Given the description of an element on the screen output the (x, y) to click on. 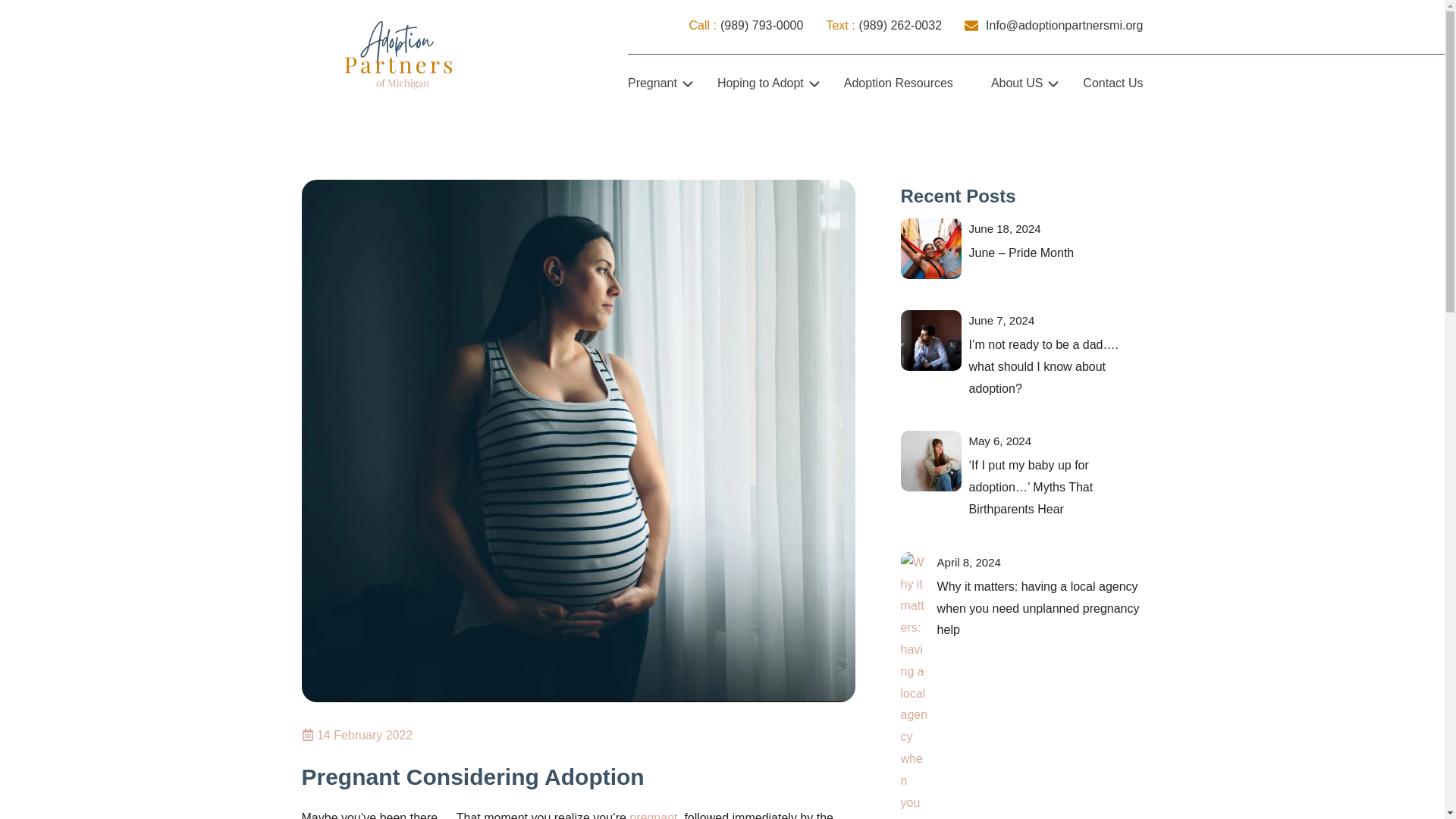
Adoption Resources (898, 83)
Contact Us (1112, 83)
pregnant (652, 815)
Pregnant Considering Adoption (473, 776)
Pregnant (653, 83)
Hoping to Adopt (761, 83)
About US (1018, 83)
